Given the description of an element on the screen output the (x, y) to click on. 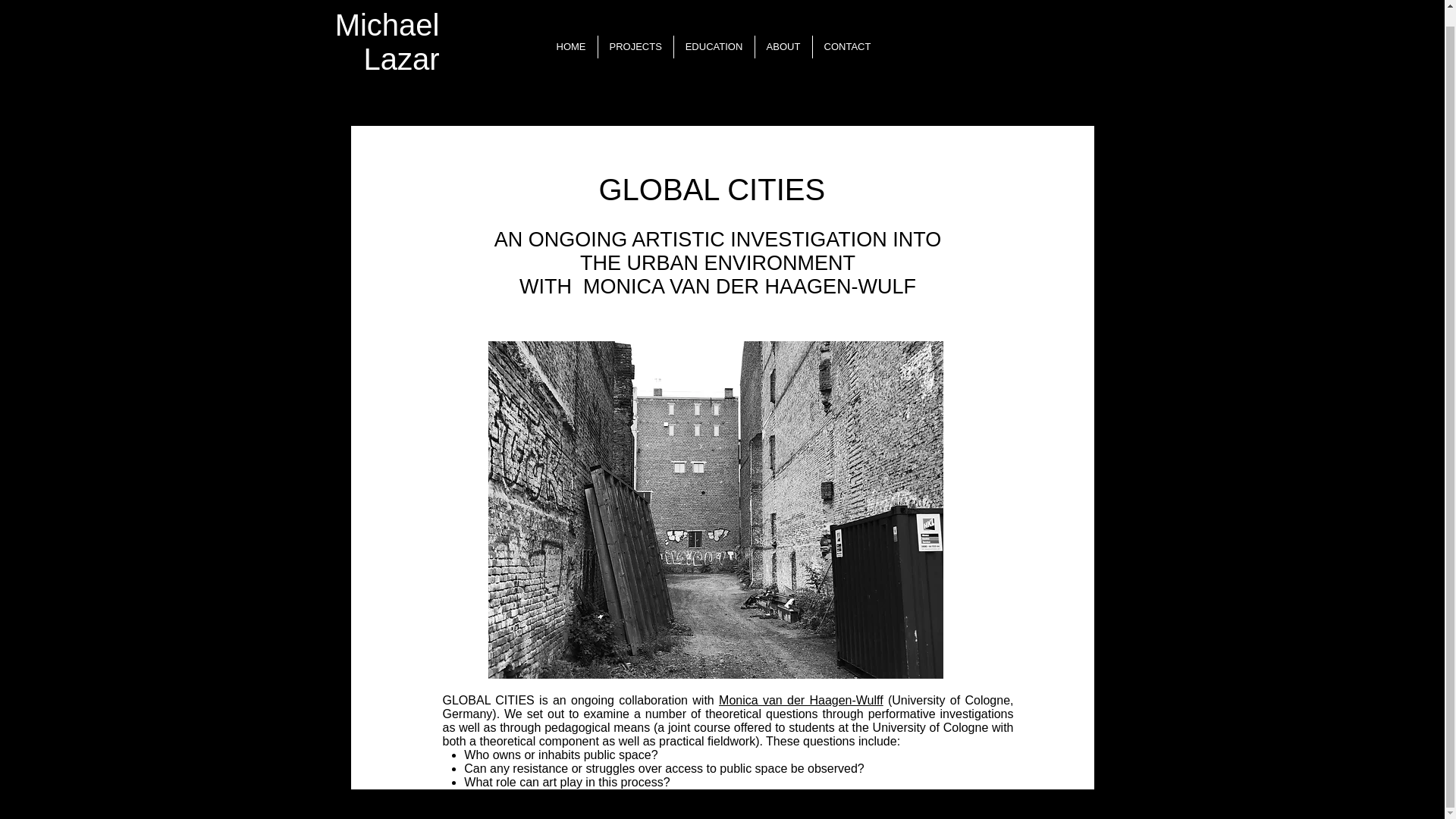
ABOUT (782, 47)
PROJECTS (634, 47)
HOME (570, 47)
EDUCATION (713, 47)
Monica van der Haagen-Wulff (801, 699)
CONTACT (846, 47)
